Given the description of an element on the screen output the (x, y) to click on. 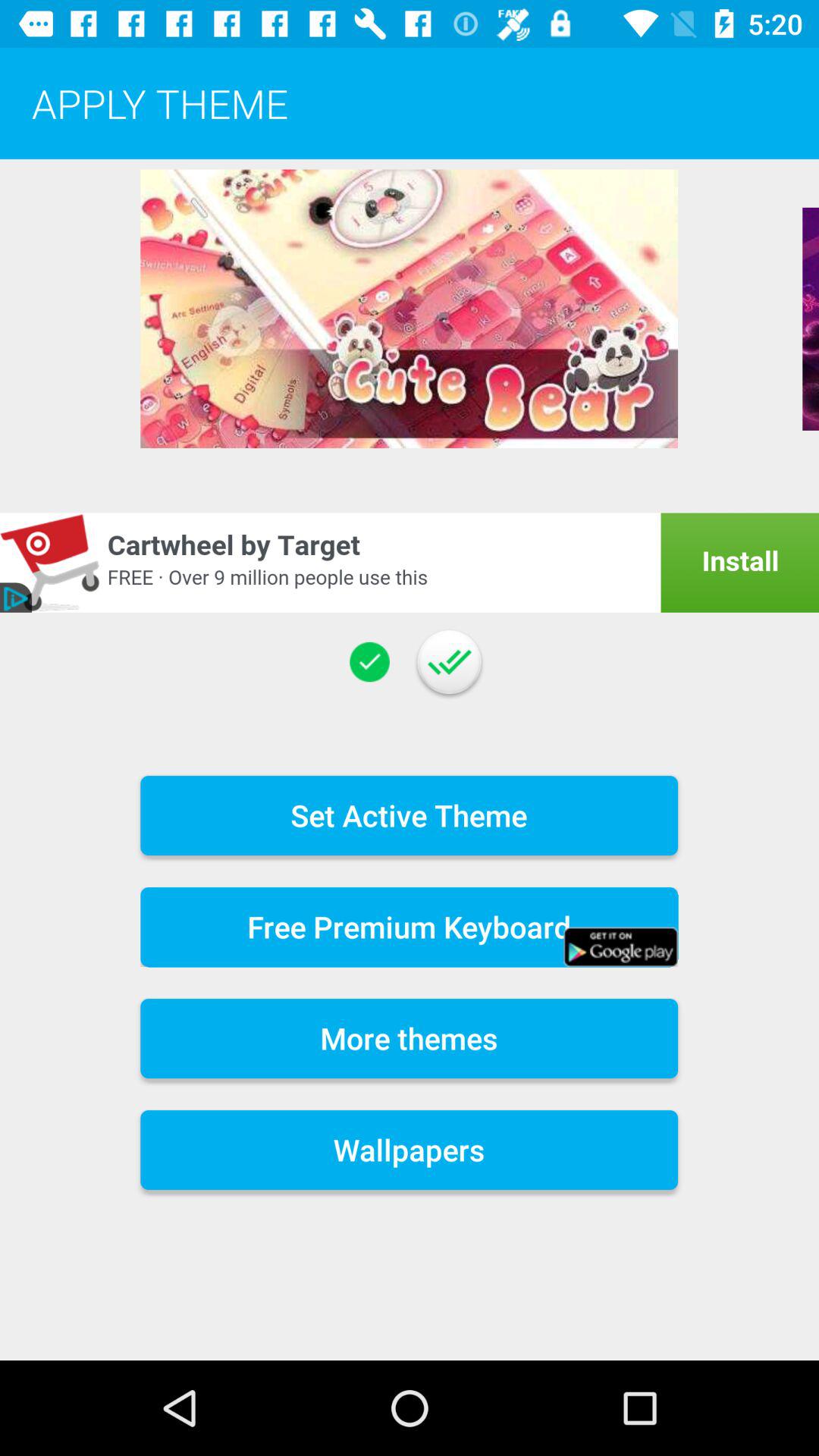
launch the item above the free premium keyboard (408, 815)
